Given the description of an element on the screen output the (x, y) to click on. 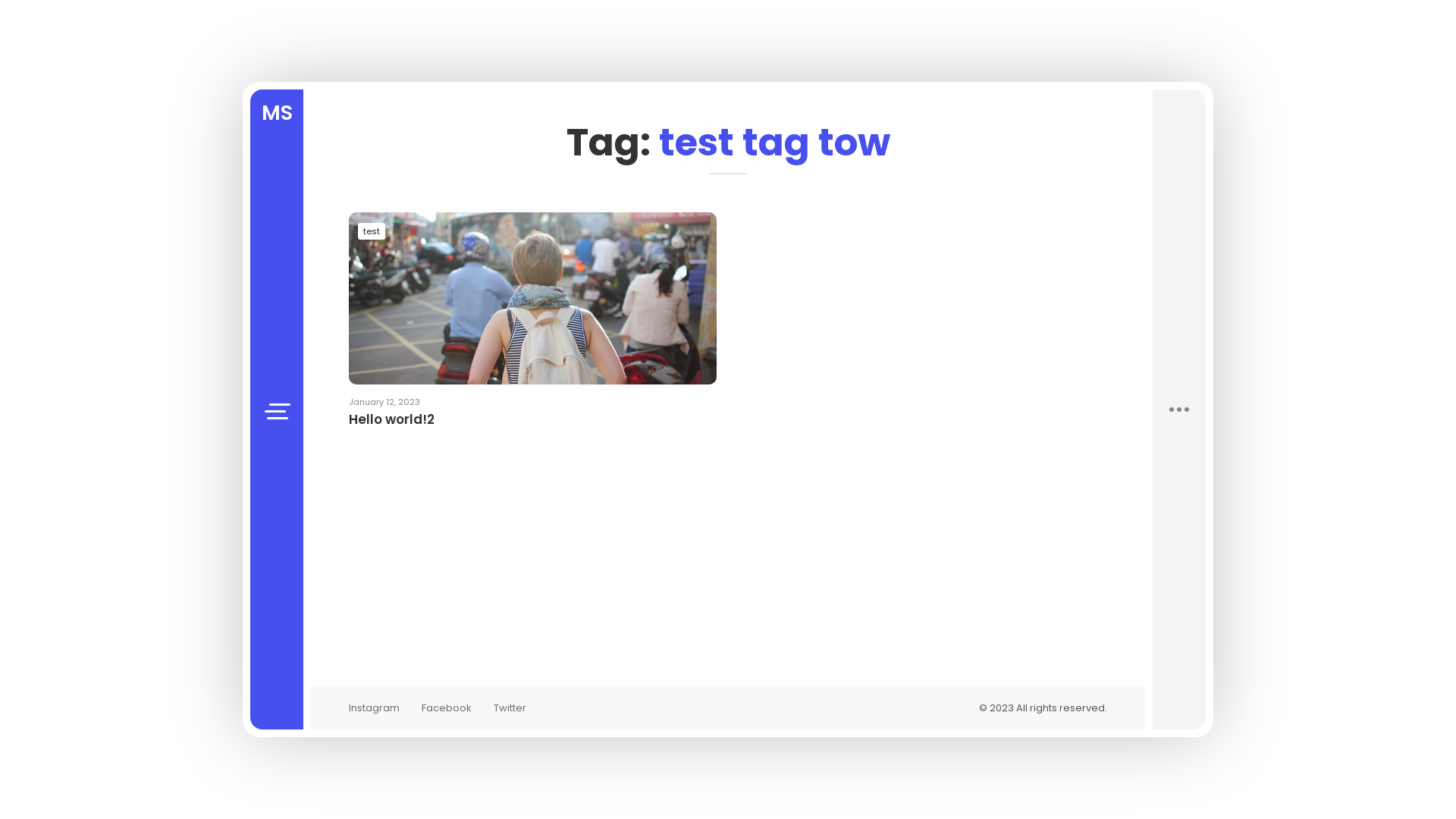
MS Element type: text (276, 107)
Facebook Element type: text (446, 707)
Hello world!2 Element type: text (532, 428)
Instagram Element type: text (373, 707)
Twitter Element type: text (509, 707)
test Element type: text (371, 230)
